Given the description of an element on the screen output the (x, y) to click on. 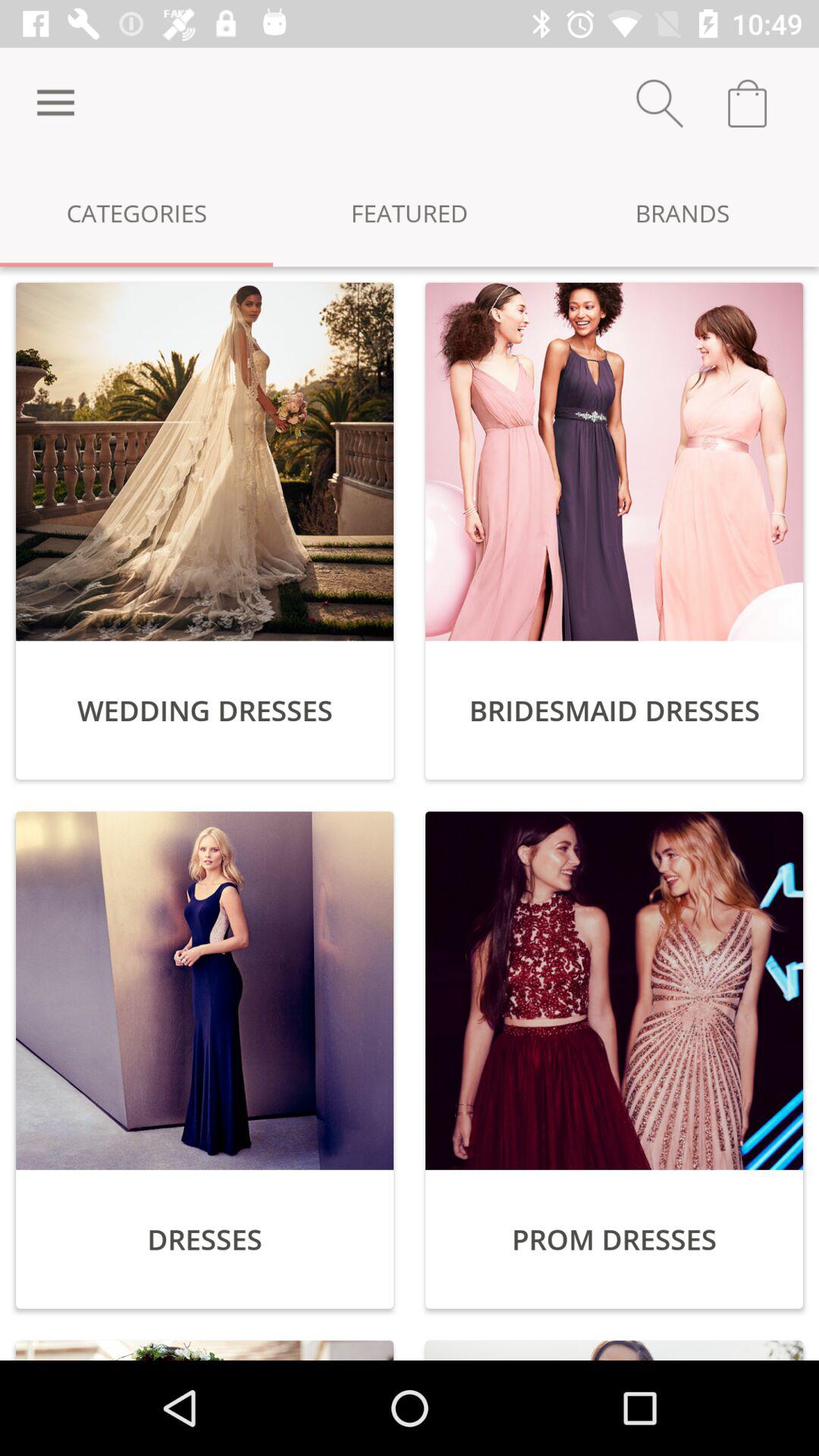
choose item to the left of brands icon (409, 212)
